Given the description of an element on the screen output the (x, y) to click on. 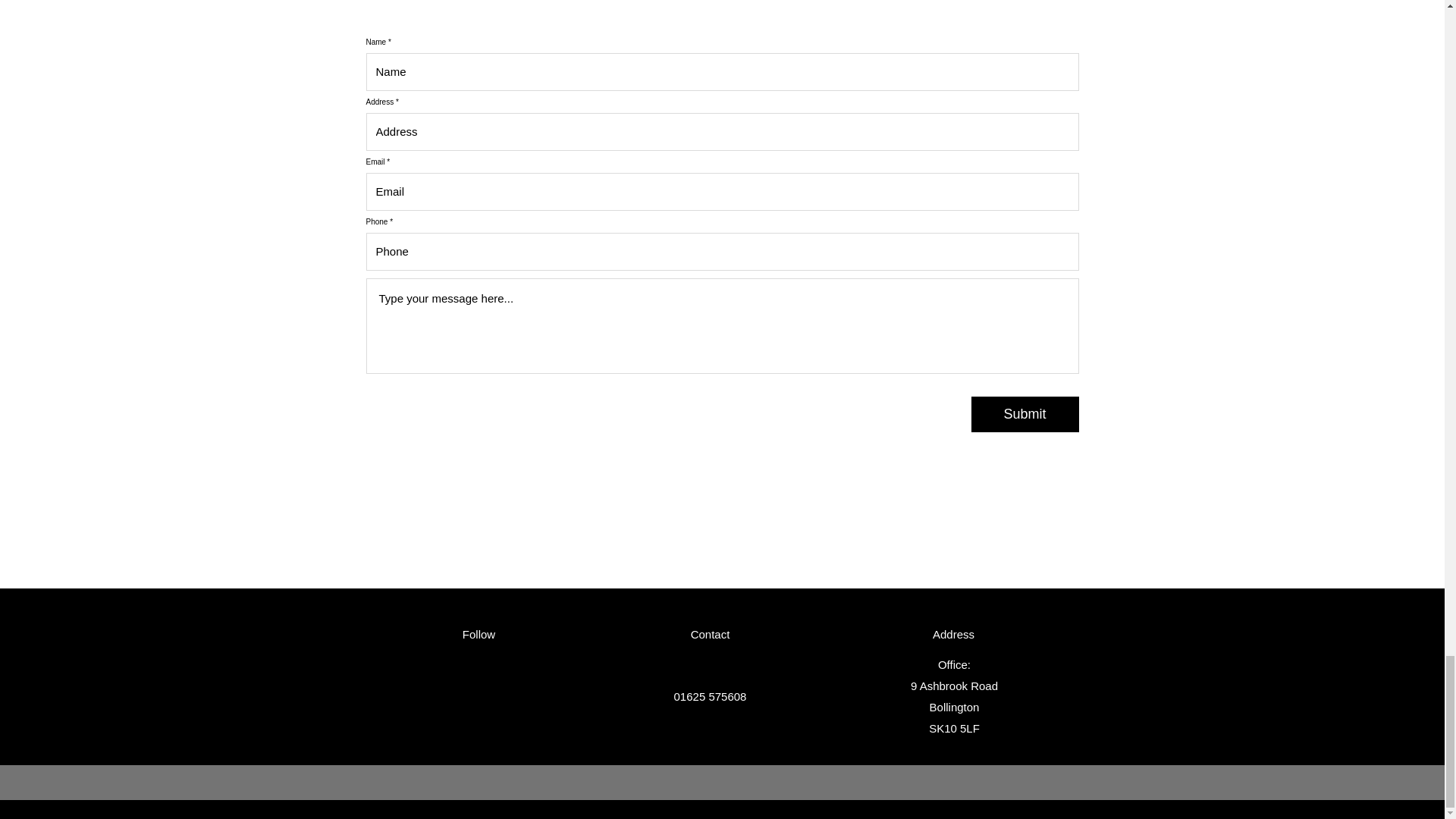
Submit (1024, 414)
